Given the description of an element on the screen output the (x, y) to click on. 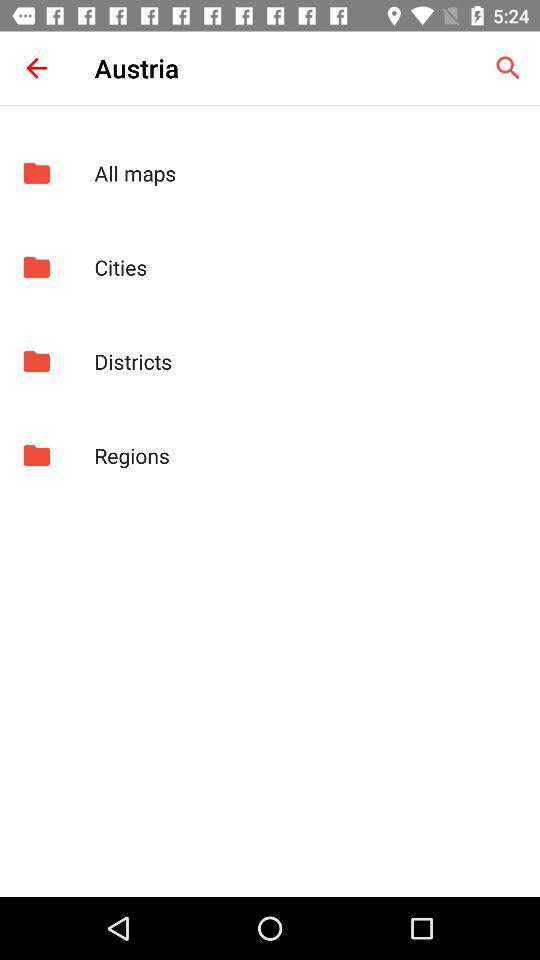
press the icon to the left of the austria item (36, 68)
